Given the description of an element on the screen output the (x, y) to click on. 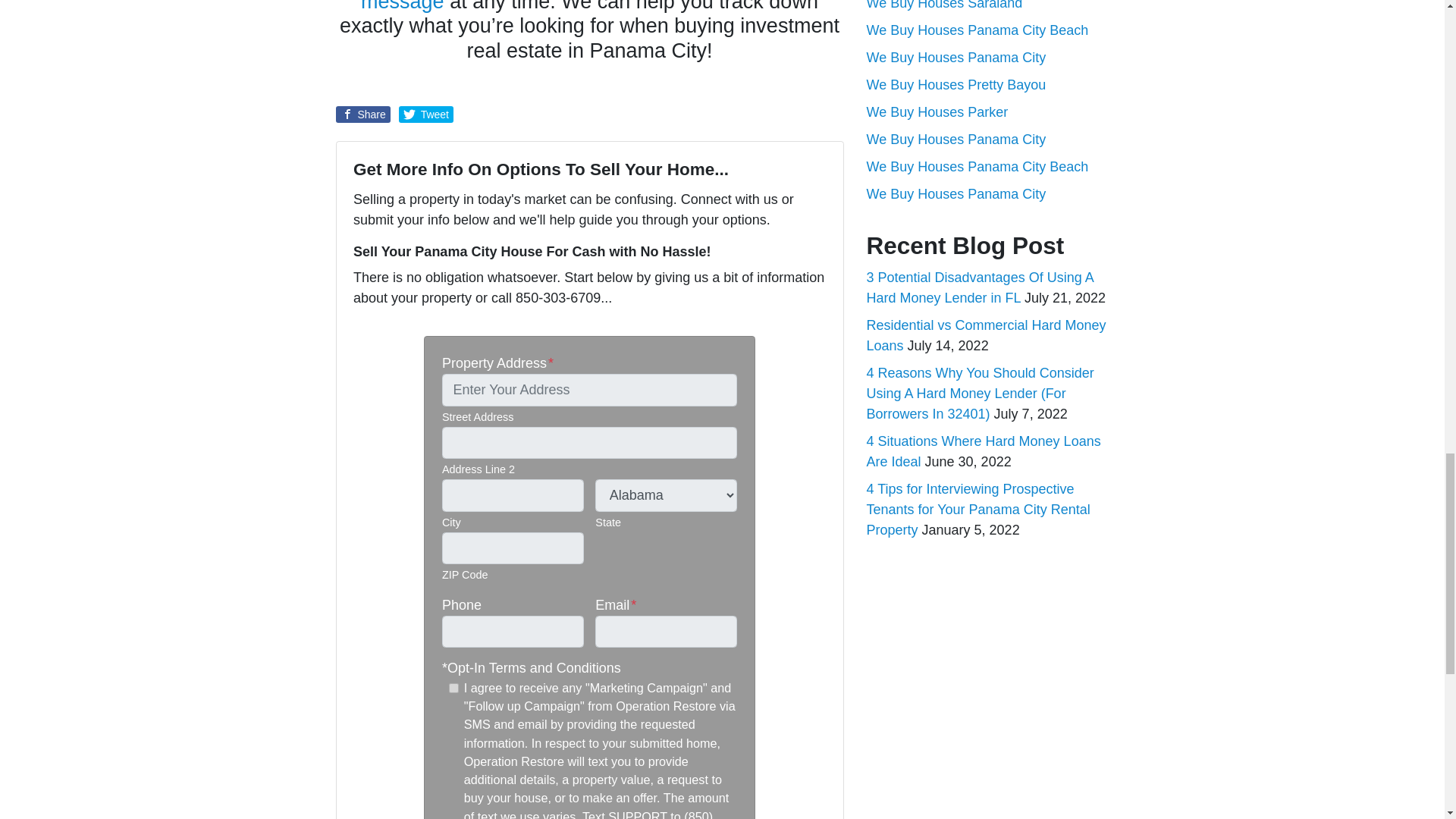
We Buy Houses Panama City Beach (976, 29)
Share (362, 114)
Tweet (425, 114)
send us a message (588, 6)
4 Situations Where Hard Money Loans Are Ideal (983, 451)
We Buy Houses Panama City (955, 139)
We Buy Houses Saraland (944, 5)
Residential vs Commercial Hard Money Loans (985, 334)
We Buy Houses Pretty Bayou (955, 84)
We Buy Houses Parker (936, 111)
We Buy Houses Panama City Beach (976, 166)
We Buy Houses Panama City (955, 193)
3 Potential Disadvantages Of Using A Hard Money Lender in FL (979, 287)
Share on Facebook (362, 114)
